Given the description of an element on the screen output the (x, y) to click on. 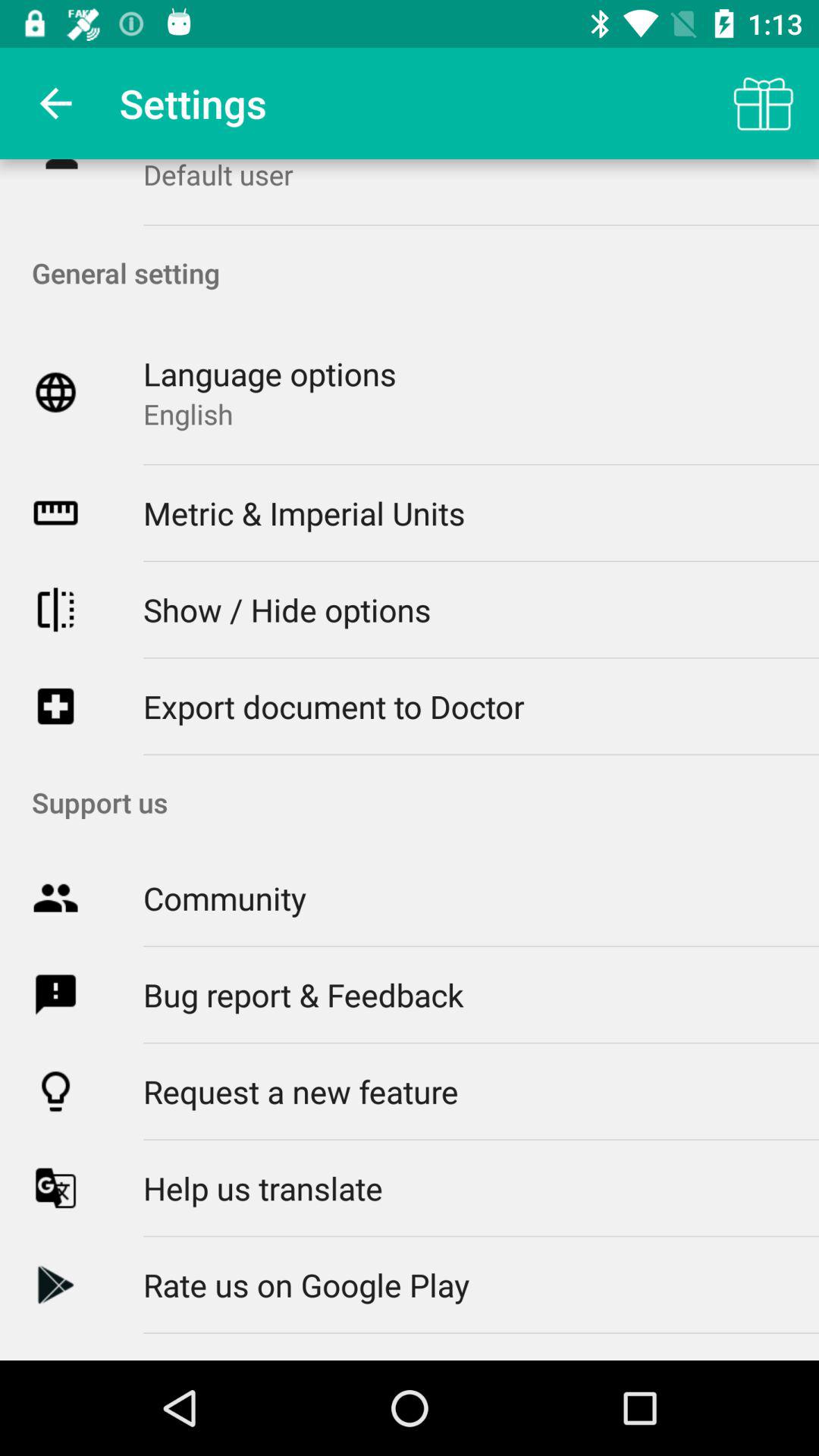
choose the logo left side of language options (55, 392)
